Given the description of an element on the screen output the (x, y) to click on. 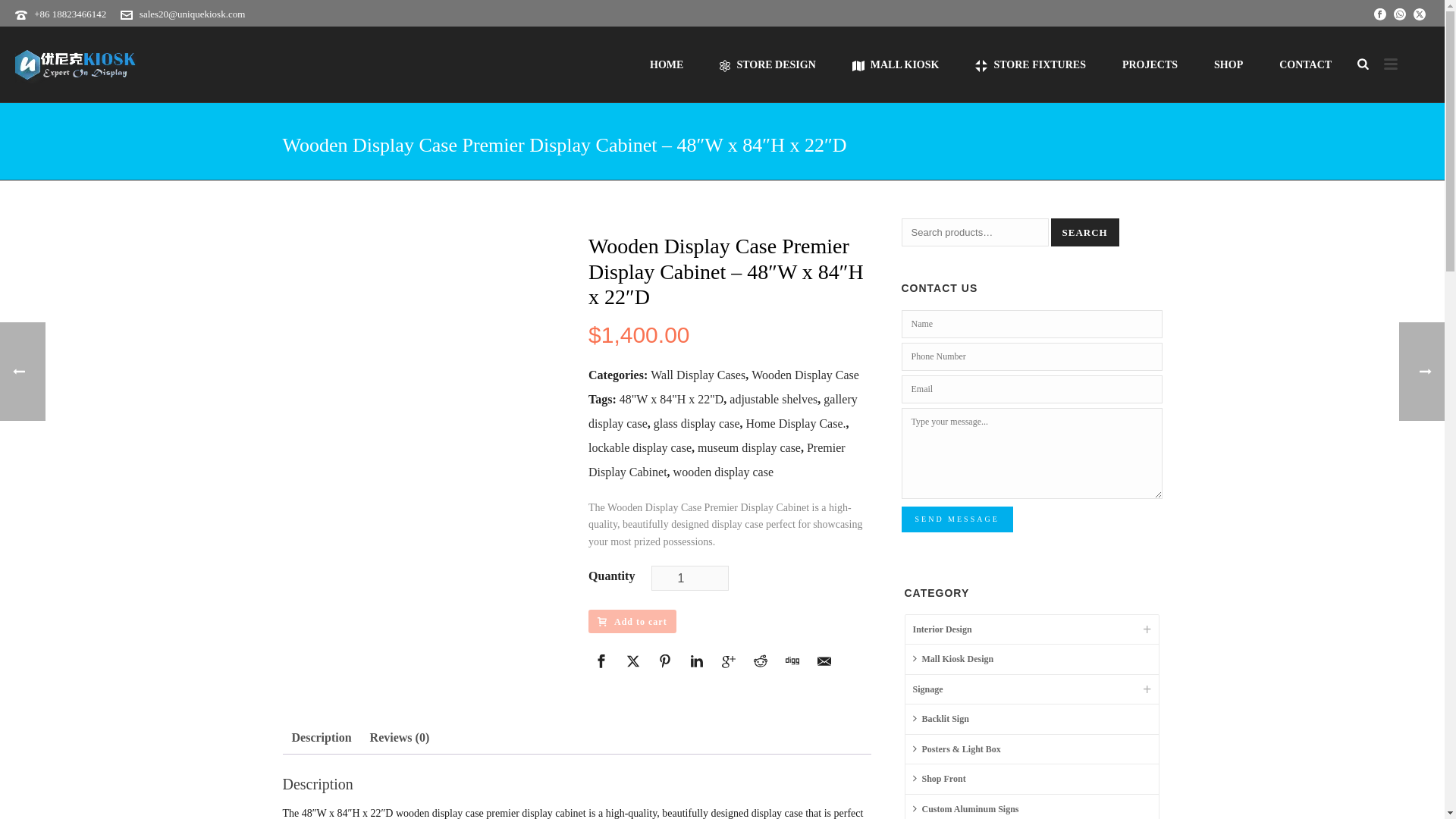
MALL KIOSK (895, 64)
Unique Kiosk (75, 64)
STORE DESIGN (767, 64)
Qty (689, 577)
STORE FIXTURES (1030, 64)
HOME (666, 64)
STORE FIXTURES (1030, 64)
HOME (666, 64)
SHOP (1227, 64)
MALL KIOSK (895, 64)
